Given the description of an element on the screen output the (x, y) to click on. 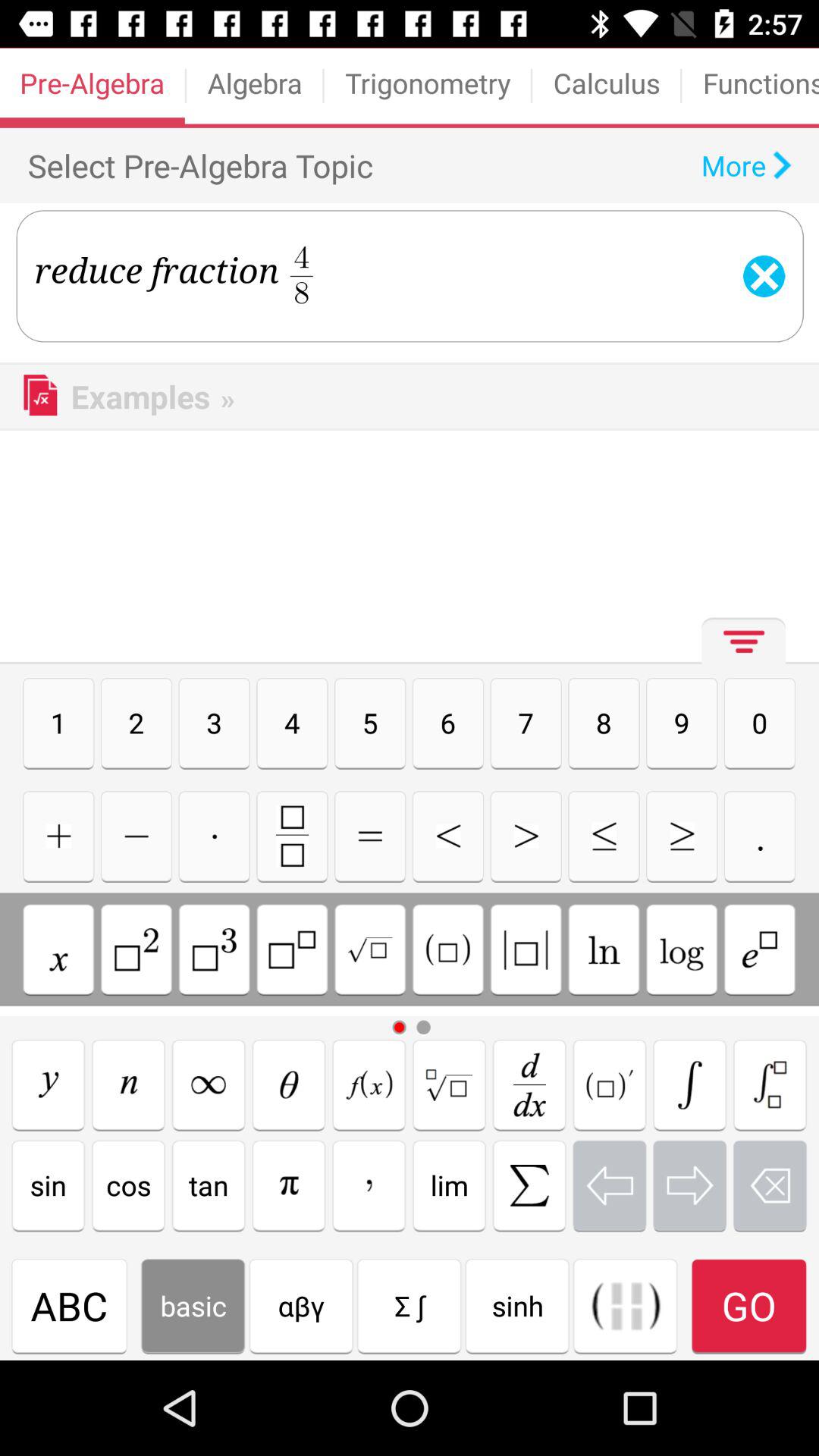
write fraction (292, 835)
